Given the description of an element on the screen output the (x, y) to click on. 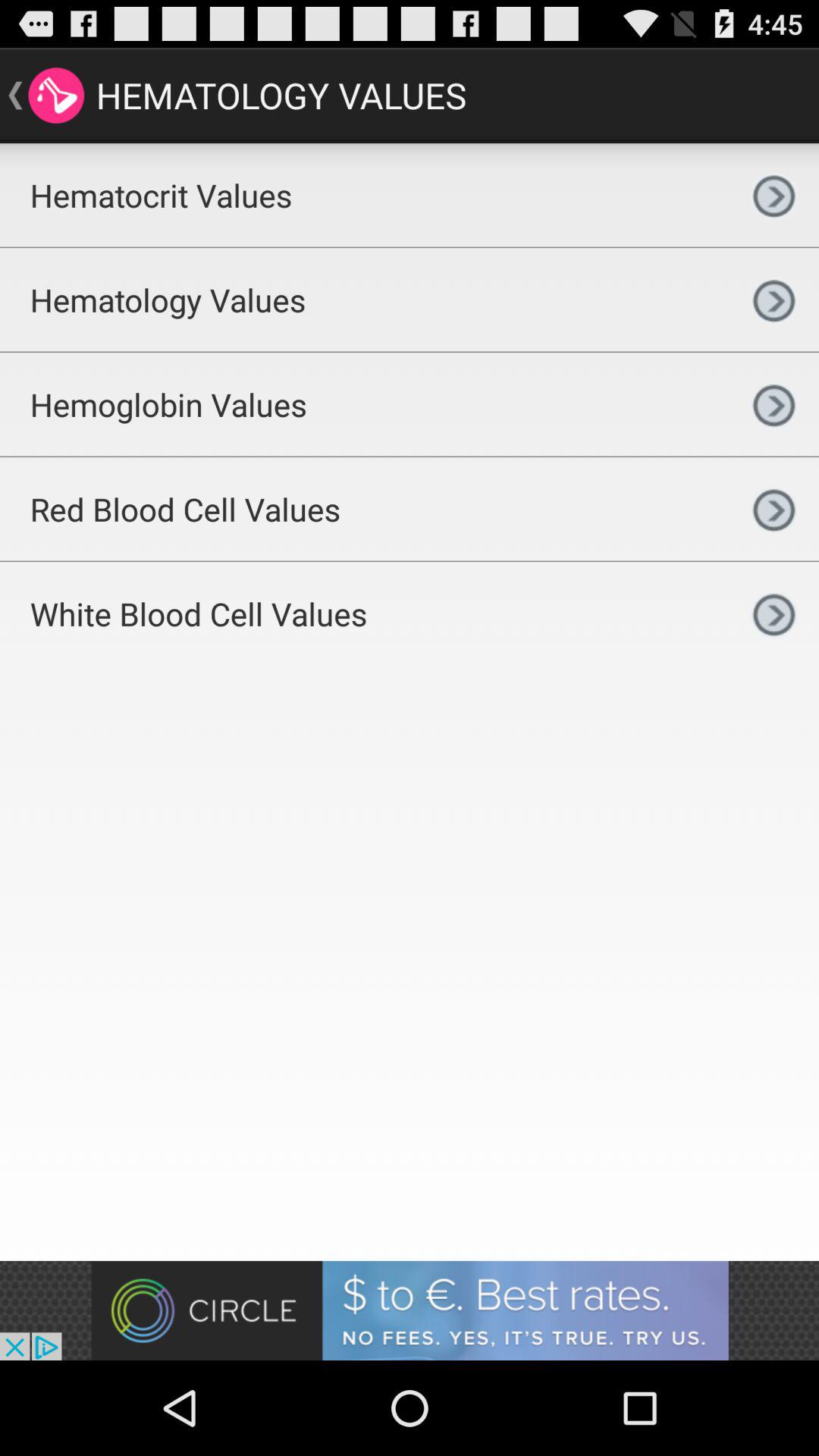
open advertisement (409, 1310)
